Given the description of an element on the screen output the (x, y) to click on. 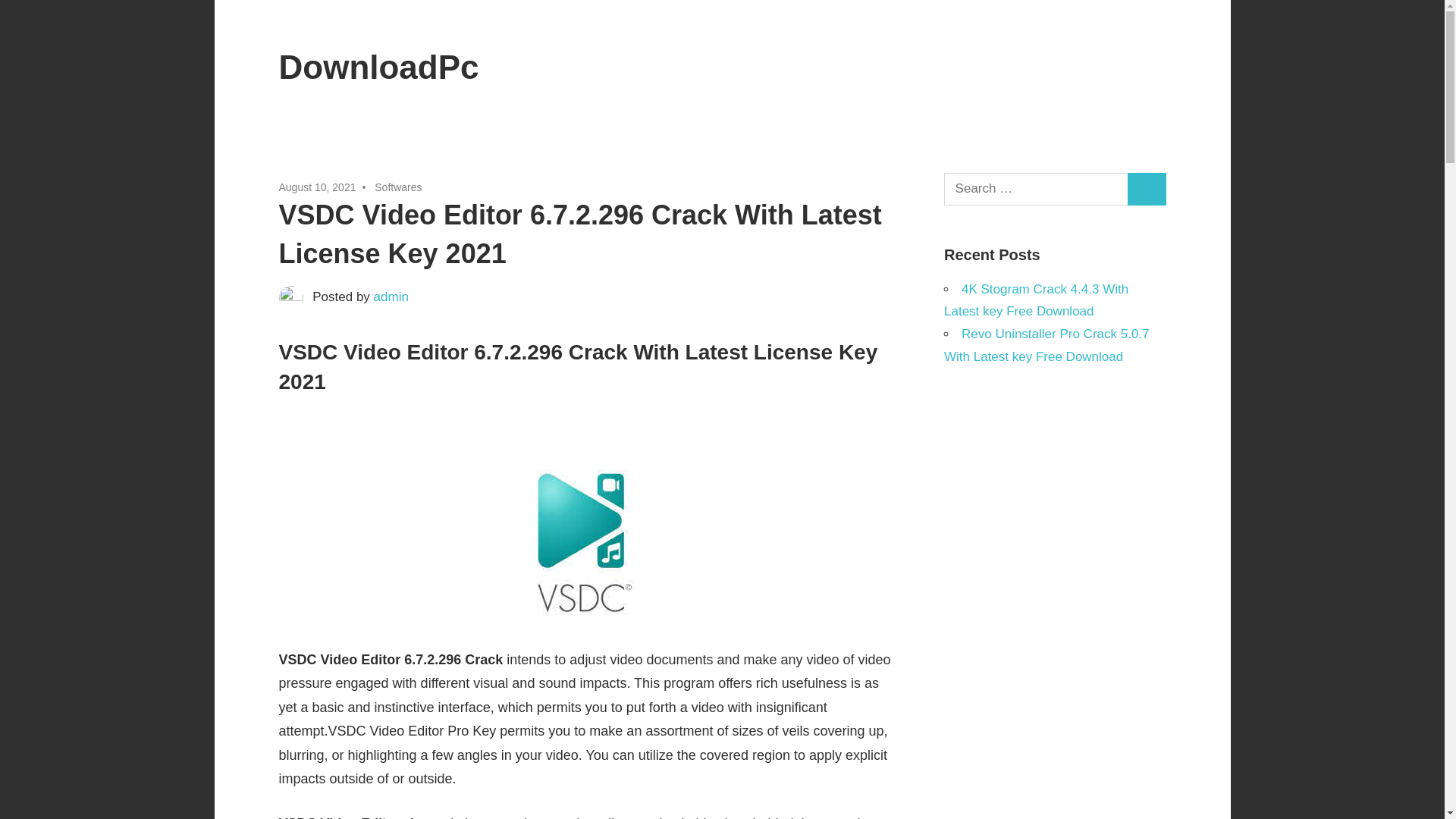
DownloadPc (379, 66)
View all posts by admin (391, 296)
admin (391, 296)
Search for: (1035, 188)
2:40 pm (317, 186)
4K Stogram Crack 4.4.3 With Latest key Free Download (1035, 300)
August 10, 2021 (317, 186)
Softwares (398, 186)
